Given the description of an element on the screen output the (x, y) to click on. 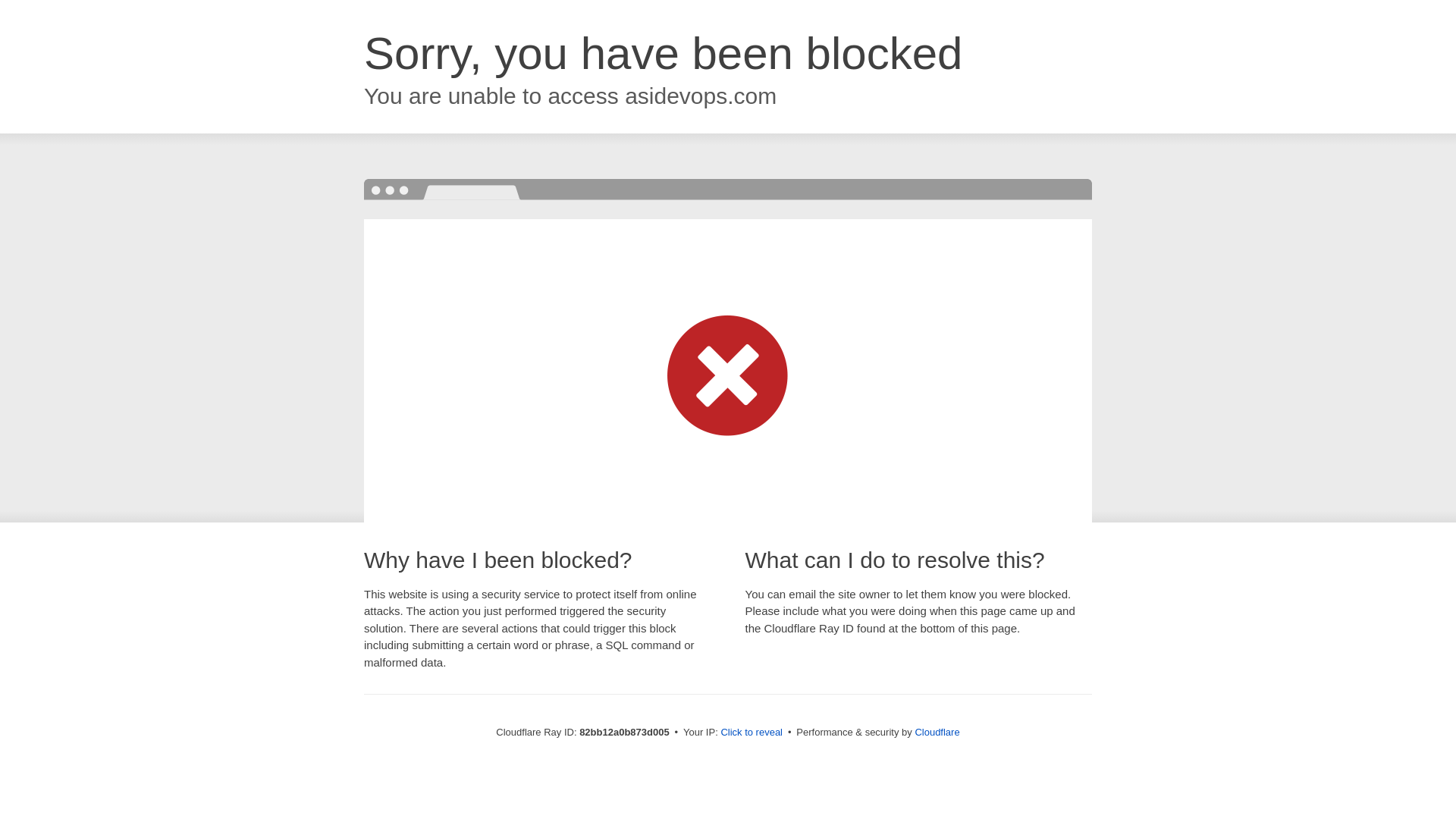
Cloudflare Element type: text (936, 731)
Click to reveal Element type: text (751, 732)
